Given the description of an element on the screen output the (x, y) to click on. 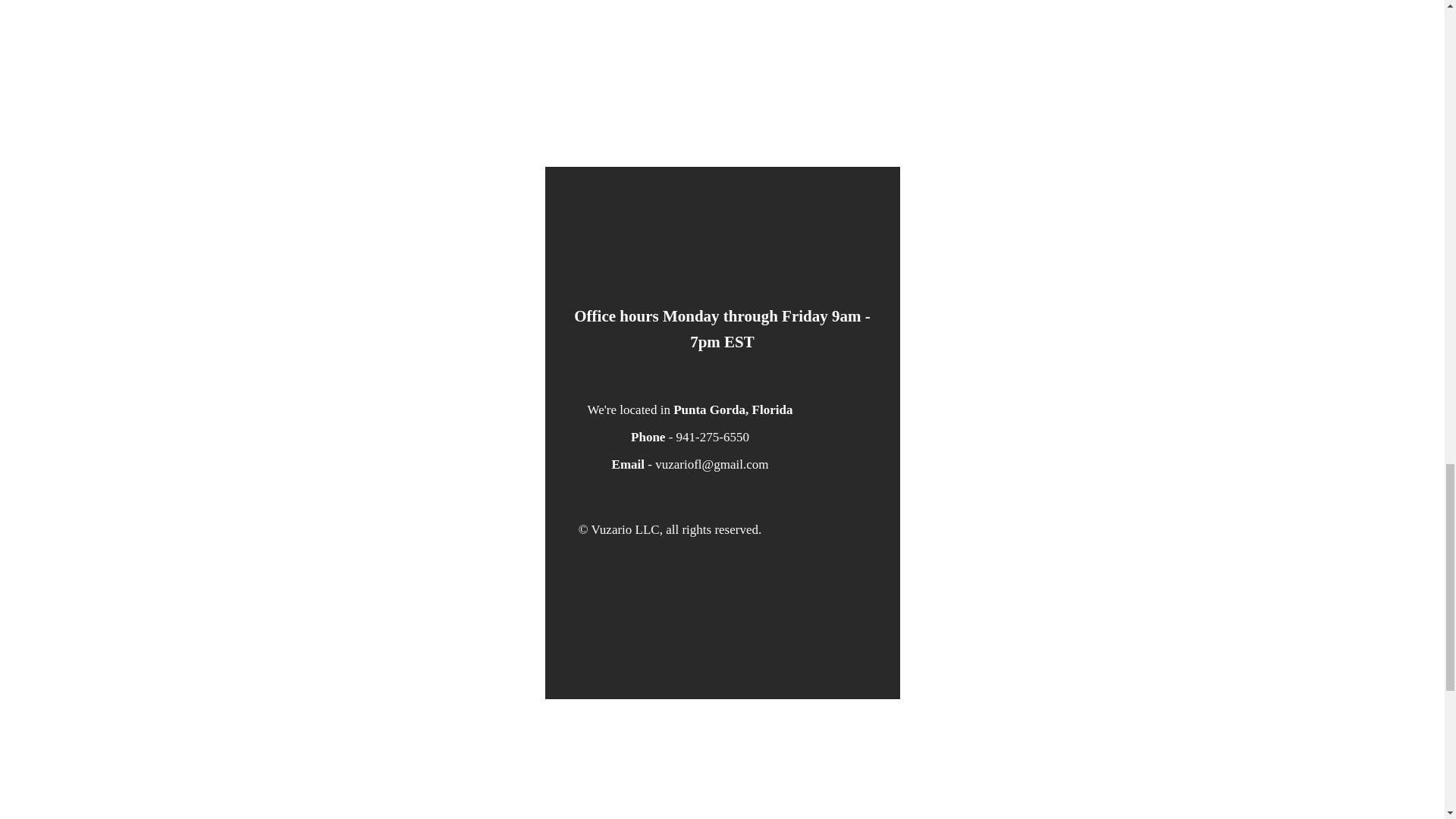
941-275-6550 (713, 436)
